Given the description of an element on the screen output the (x, y) to click on. 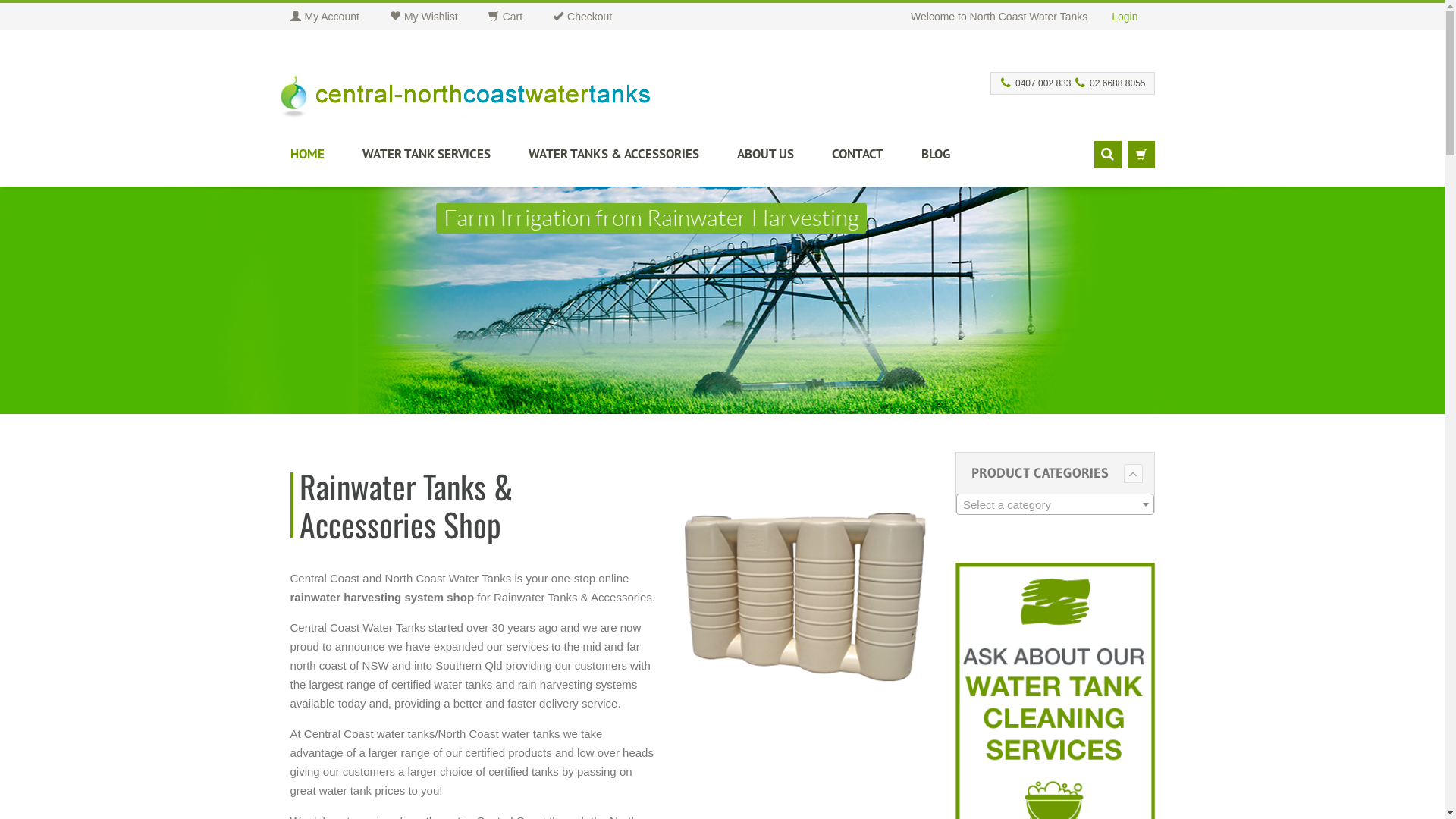
My Wishlist Element type: text (438, 16)
ABOUT US Element type: text (784, 160)
Search Element type: hover (1106, 154)
CONTACT Element type: text (875, 160)
WATER TANK SERVICES Element type: text (445, 160)
Login Element type: text (1124, 16)
WATER TANKS & ACCESSORIES Element type: text (631, 160)
HOME Element type: text (325, 160)
Checkout Element type: text (597, 16)
Cart Element type: text (520, 16)
BLOG Element type: text (944, 160)
My Account Element type: text (339, 16)
